Given the description of an element on the screen output the (x, y) to click on. 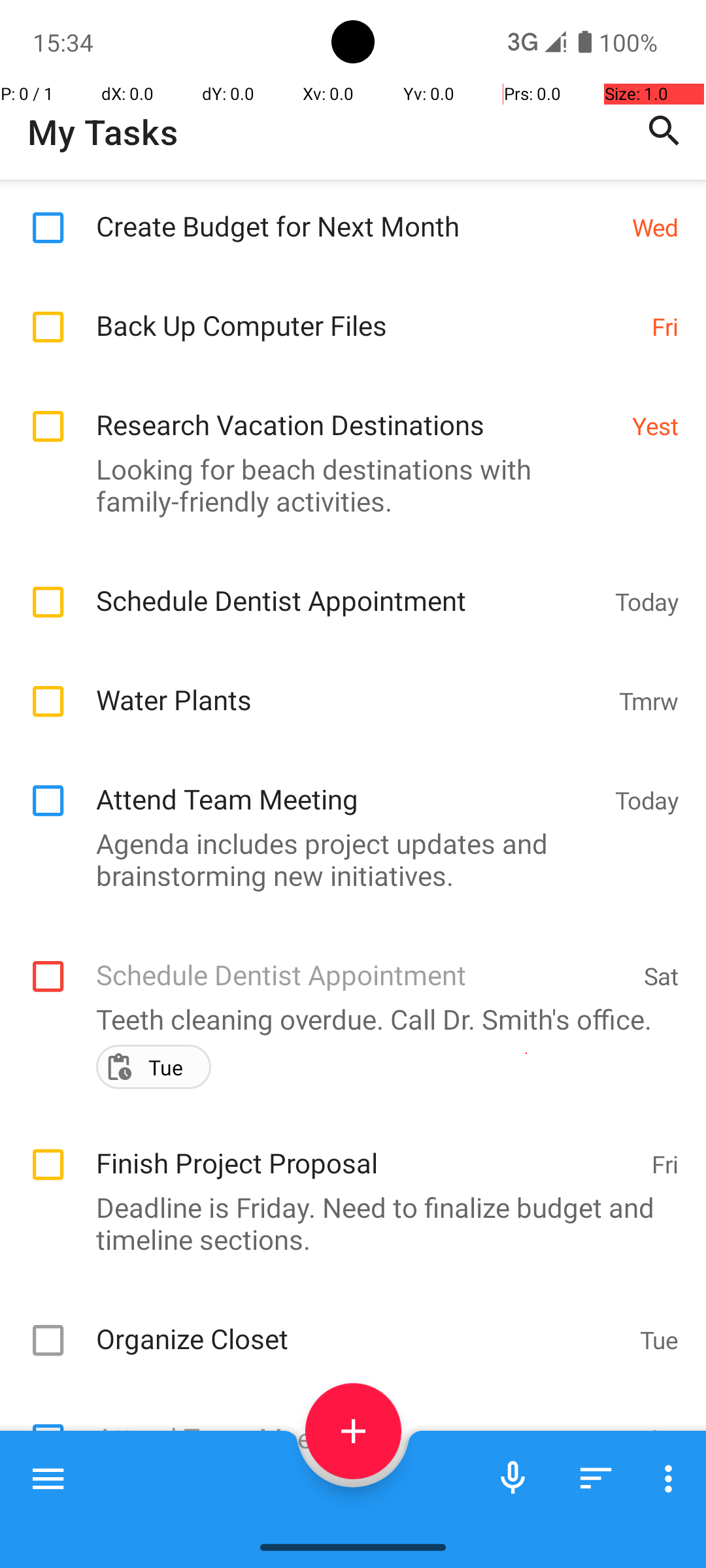
Create Budget for Next Month Element type: android.widget.TextView (357, 211)
Back Up Computer Files Element type: android.widget.TextView (367, 310)
Fri Element type: android.widget.TextView (665, 325)
Research Vacation Destinations Element type: android.widget.TextView (357, 410)
Looking for beach destinations with family-friendly activities. Element type: android.widget.TextView (346, 484)
Yest Element type: android.widget.TextView (655, 425)
Schedule Dentist Appointment Element type: android.widget.TextView (348, 586)
Water Plants Element type: android.widget.TextView (350, 685)
Tmrw Element type: android.widget.TextView (648, 700)
Attend Team Meeting Element type: android.widget.TextView (348, 784)
Agenda includes project updates and brainstorming new initiatives. Element type: android.widget.TextView (346, 858)
Teeth cleaning overdue. Call Dr. Smith's office. Element type: android.widget.TextView (346, 1018)
Sat Element type: android.widget.TextView (661, 975)
Finish Project Proposal Element type: android.widget.TextView (367, 1148)
Deadline is Friday. Need to finalize budget and timeline sections. Element type: android.widget.TextView (346, 1222)
Organize Closet Element type: android.widget.TextView (361, 1324)
